Given the description of an element on the screen output the (x, y) to click on. 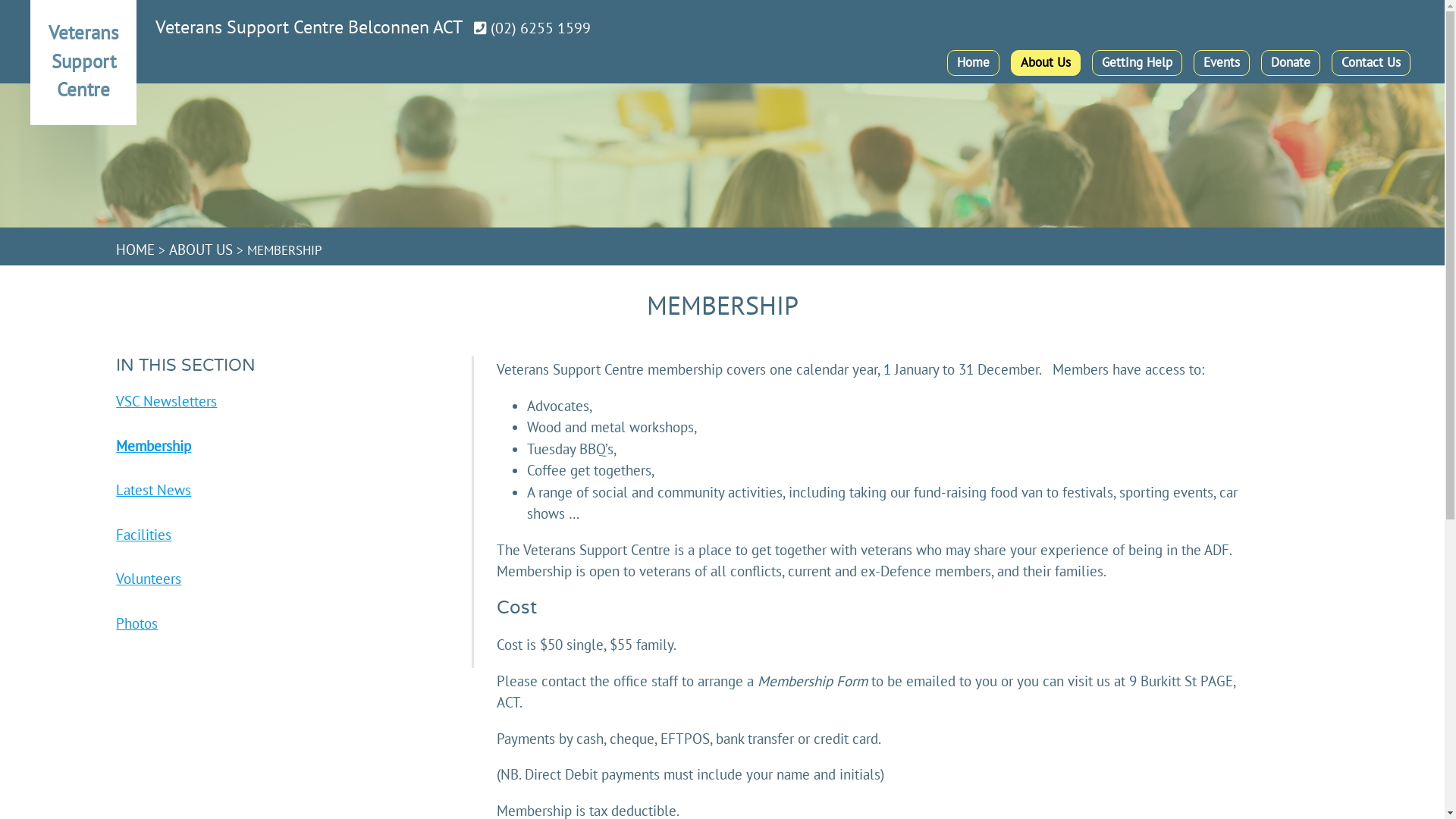
ABOUT US Element type: text (200, 249)
Volunteers Element type: text (285, 578)
Latest News Element type: text (285, 489)
Photos Element type: text (285, 622)
Events Element type: text (1221, 62)
Veterans
Support
Centre Element type: text (83, 71)
VSC Newsletters Element type: text (285, 401)
HOME Element type: text (135, 249)
About Us Element type: text (1045, 62)
Membership Element type: text (285, 445)
Donate Element type: text (1290, 62)
Facilities Element type: text (285, 534)
Contact Us Element type: text (1370, 62)
Home Element type: text (973, 62)
Getting Help Element type: text (1137, 62)
